Given the description of an element on the screen output the (x, y) to click on. 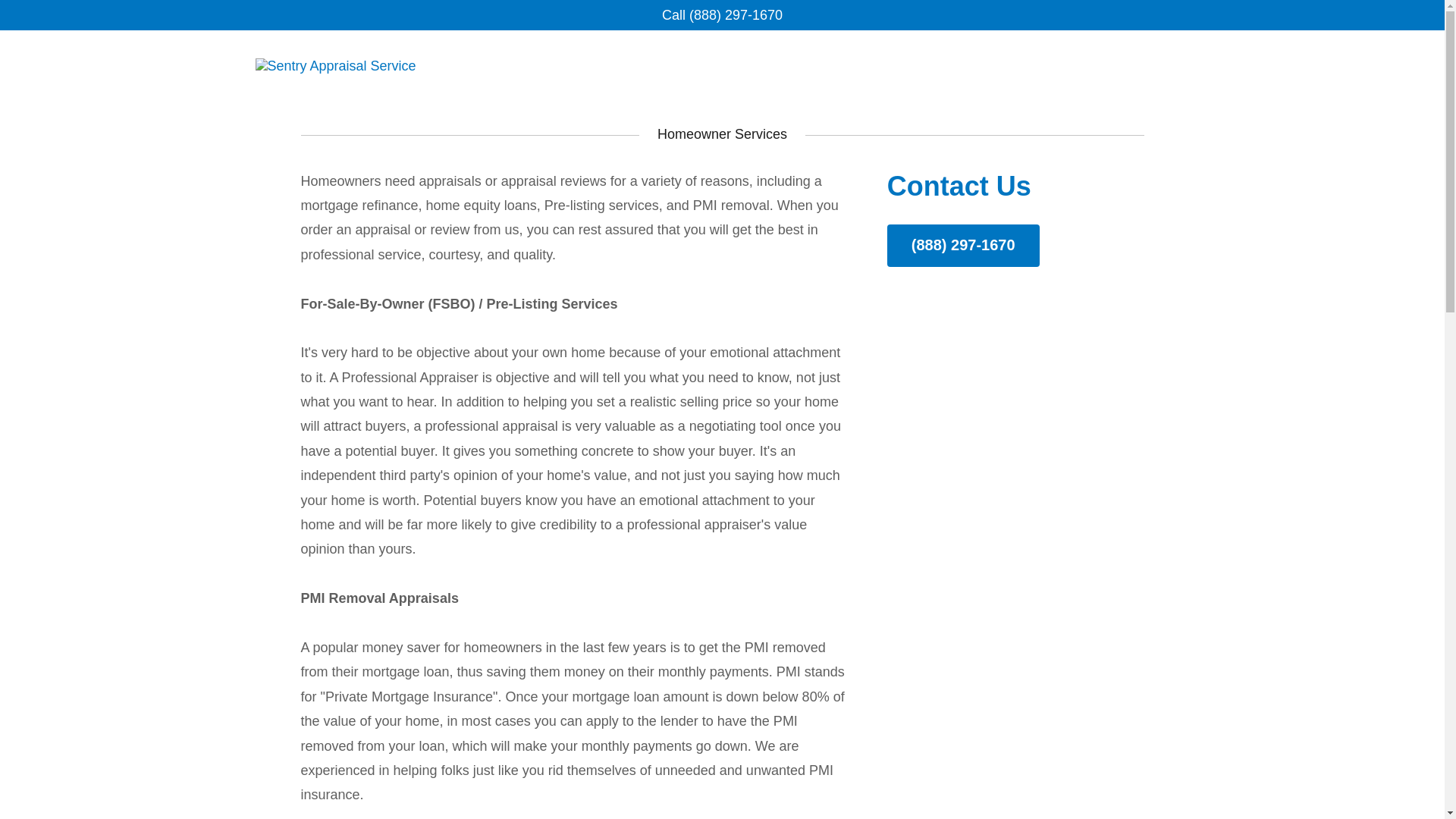
Sentry Appraisal Service (334, 64)
